Given the description of an element on the screen output the (x, y) to click on. 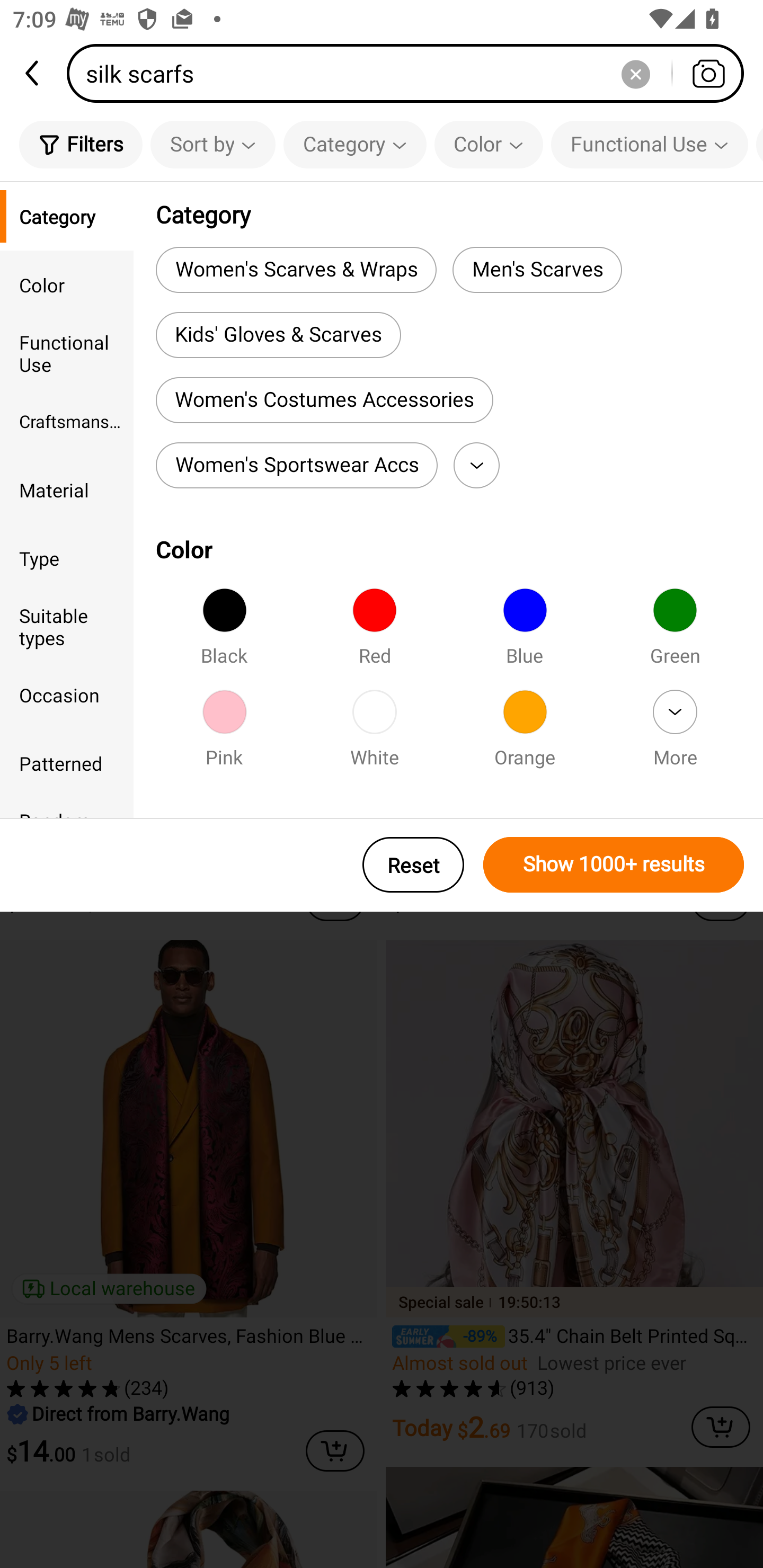
back (33, 72)
silk scarfs (411, 73)
Delete search history (635, 73)
Search by photo (708, 73)
Filters (80, 143)
Sort by (212, 143)
Category (354, 143)
Color (488, 143)
Functional Use (649, 143)
Category (66, 215)
Women's Scarves & Wraps (295, 269)
Men's Scarves (536, 269)
Color (66, 284)
Kids' Gloves & Scarves (278, 334)
Functional Use (66, 352)
Women's Costumes Accessories (324, 400)
Craftsmanship (66, 421)
Women's Sportswear Accs (296, 464)
More (476, 464)
Material (66, 489)
Type (66, 557)
Suitable types (66, 626)
Occasion (66, 694)
More (674, 734)
Patterned (66, 762)
Reset (412, 864)
Show 1000+ results (612, 864)
